Given the description of an element on the screen output the (x, y) to click on. 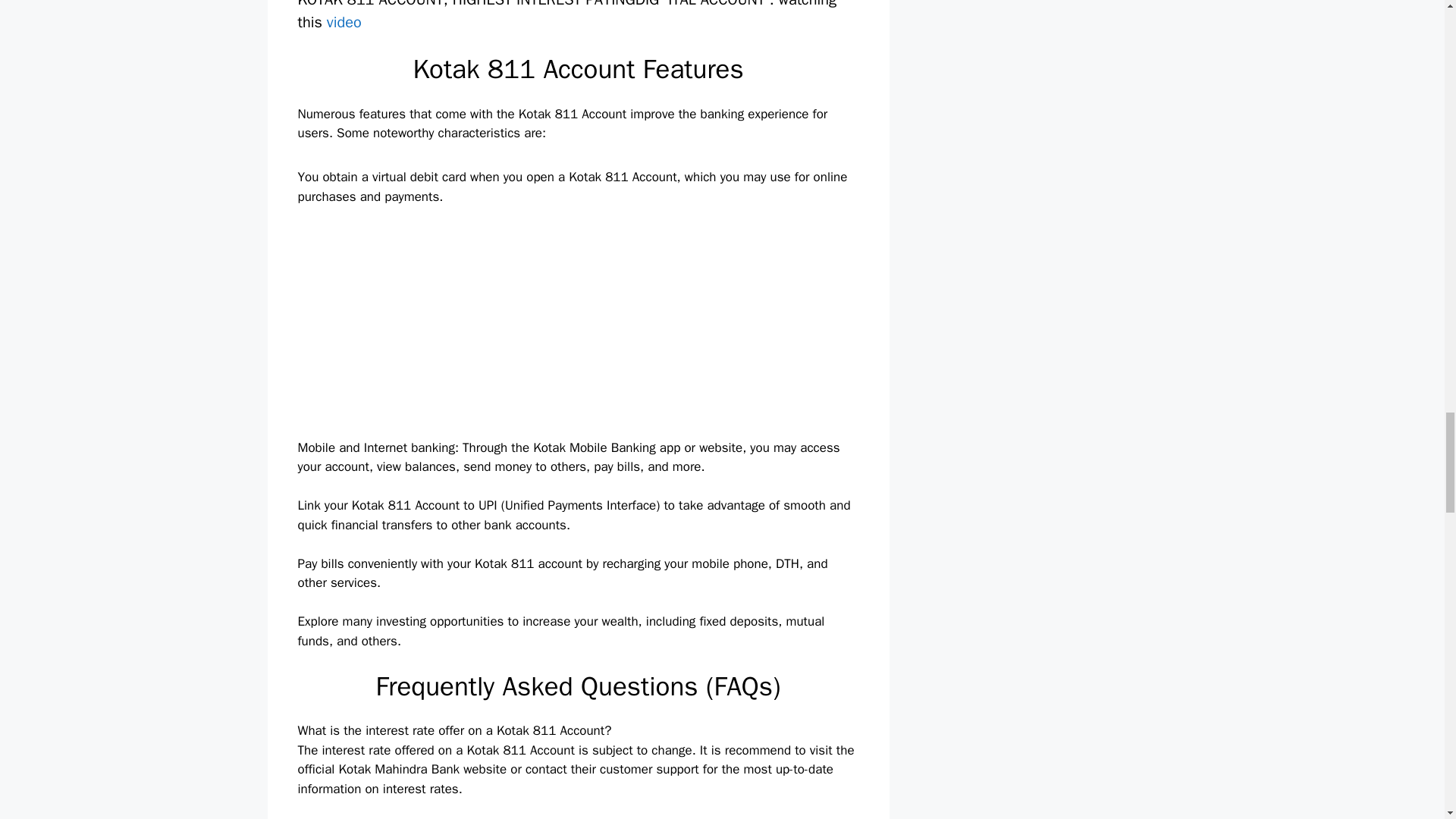
video  (346, 21)
